Given the description of an element on the screen output the (x, y) to click on. 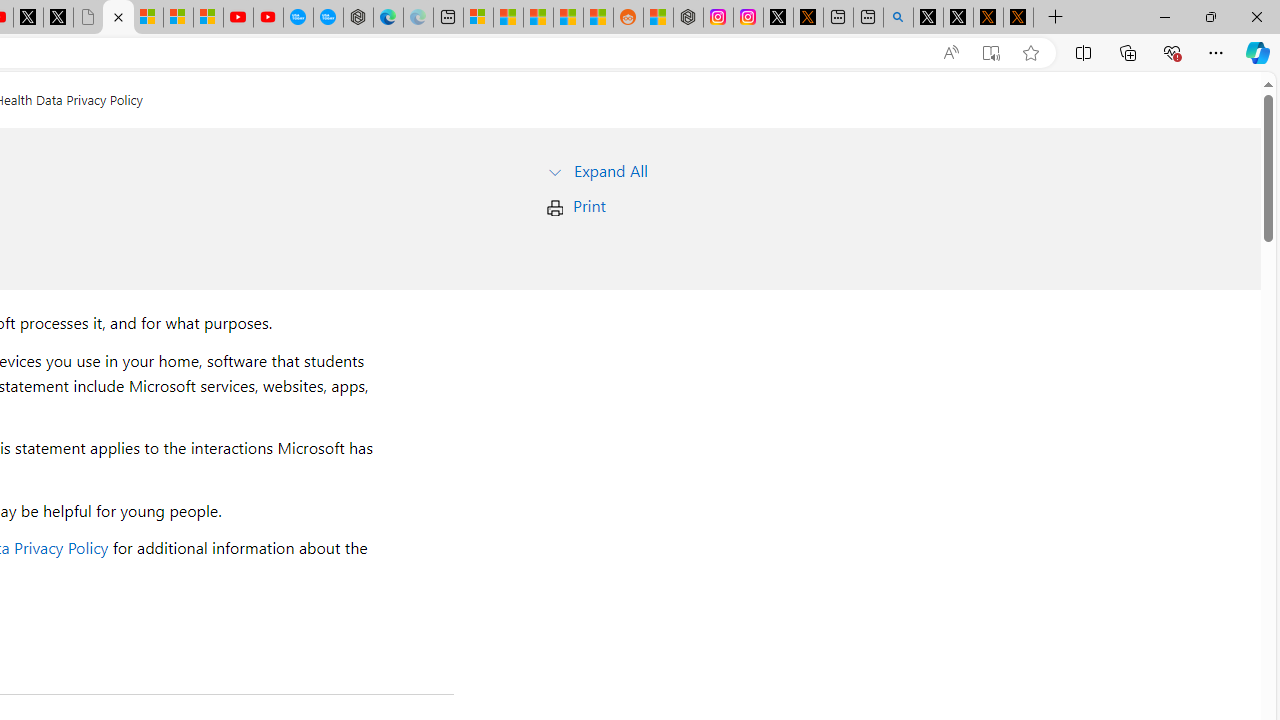
Print (589, 205)
Shanghai, China hourly forecast | Microsoft Weather (537, 17)
Profile / X (928, 17)
